Given the description of an element on the screen output the (x, y) to click on. 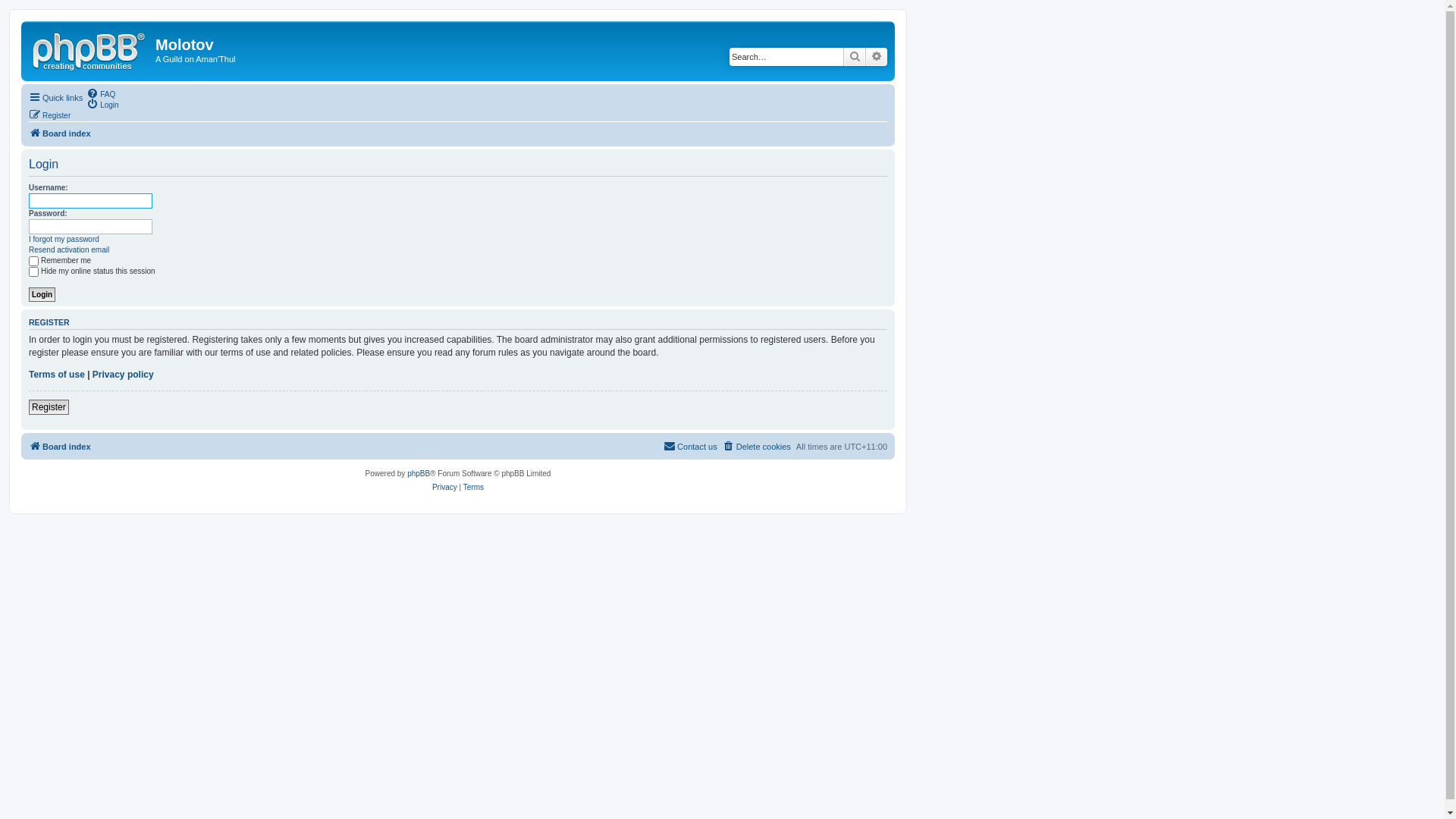
Board index Element type: text (59, 133)
Terms Element type: text (473, 487)
Quick links Element type: text (55, 97)
Search Element type: text (854, 56)
Search for keywords Element type: hover (786, 56)
Advanced search Element type: text (876, 56)
Delete cookies Element type: text (756, 446)
Login Element type: text (102, 103)
Contact us Element type: text (690, 446)
FAQ Element type: text (100, 92)
Register Element type: text (48, 406)
Register Element type: text (49, 114)
I forgot my password Element type: text (63, 239)
Privacy Element type: text (444, 487)
Resend activation email Element type: text (68, 249)
Board index Element type: hover (90, 49)
Login Element type: text (41, 294)
phpBB Element type: text (418, 473)
Terms of use Element type: text (56, 374)
Privacy policy Element type: text (122, 374)
Board index Element type: text (59, 446)
